Given the description of an element on the screen output the (x, y) to click on. 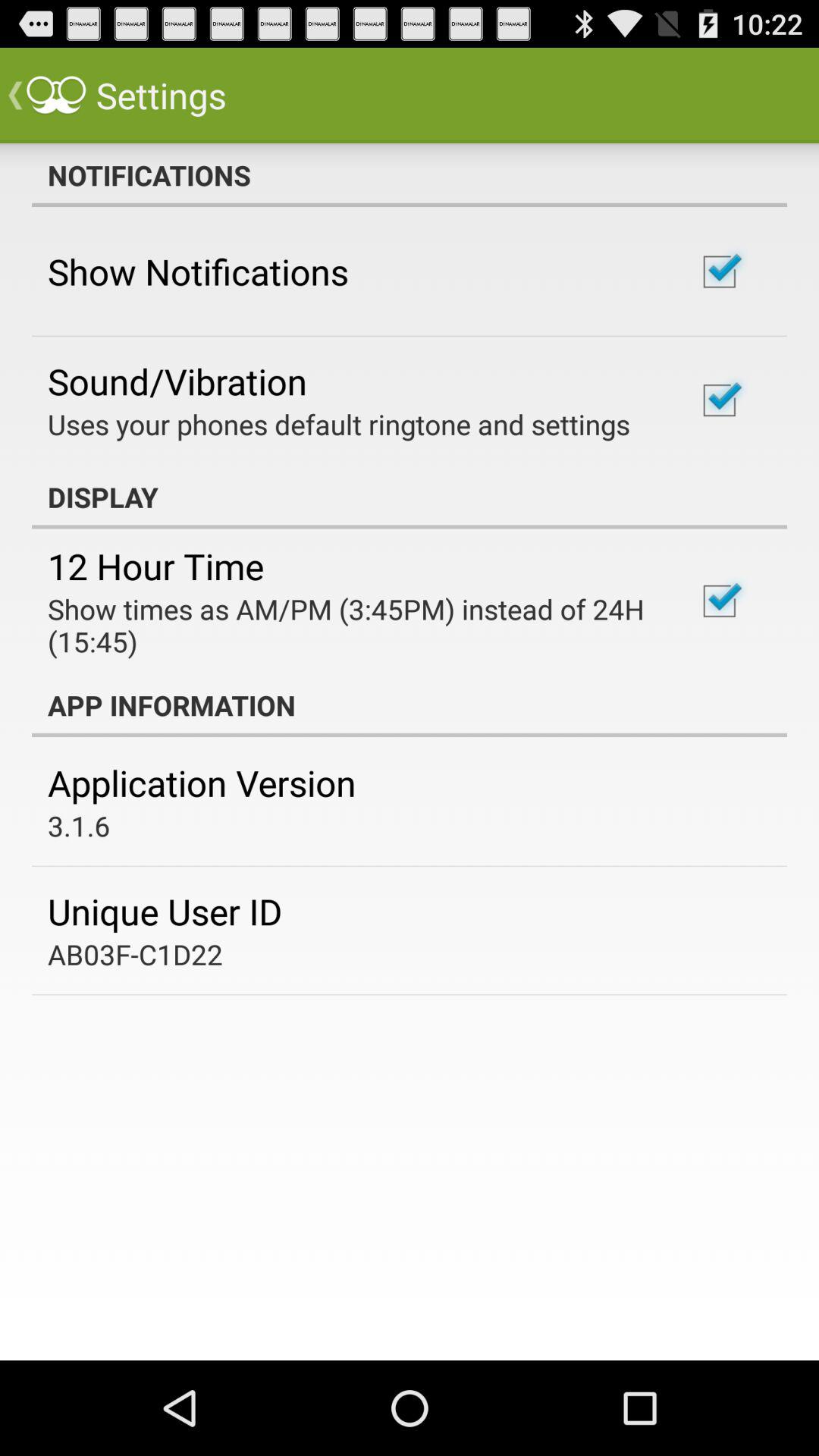
select the icon below the sound/vibration app (338, 424)
